Given the description of an element on the screen output the (x, y) to click on. 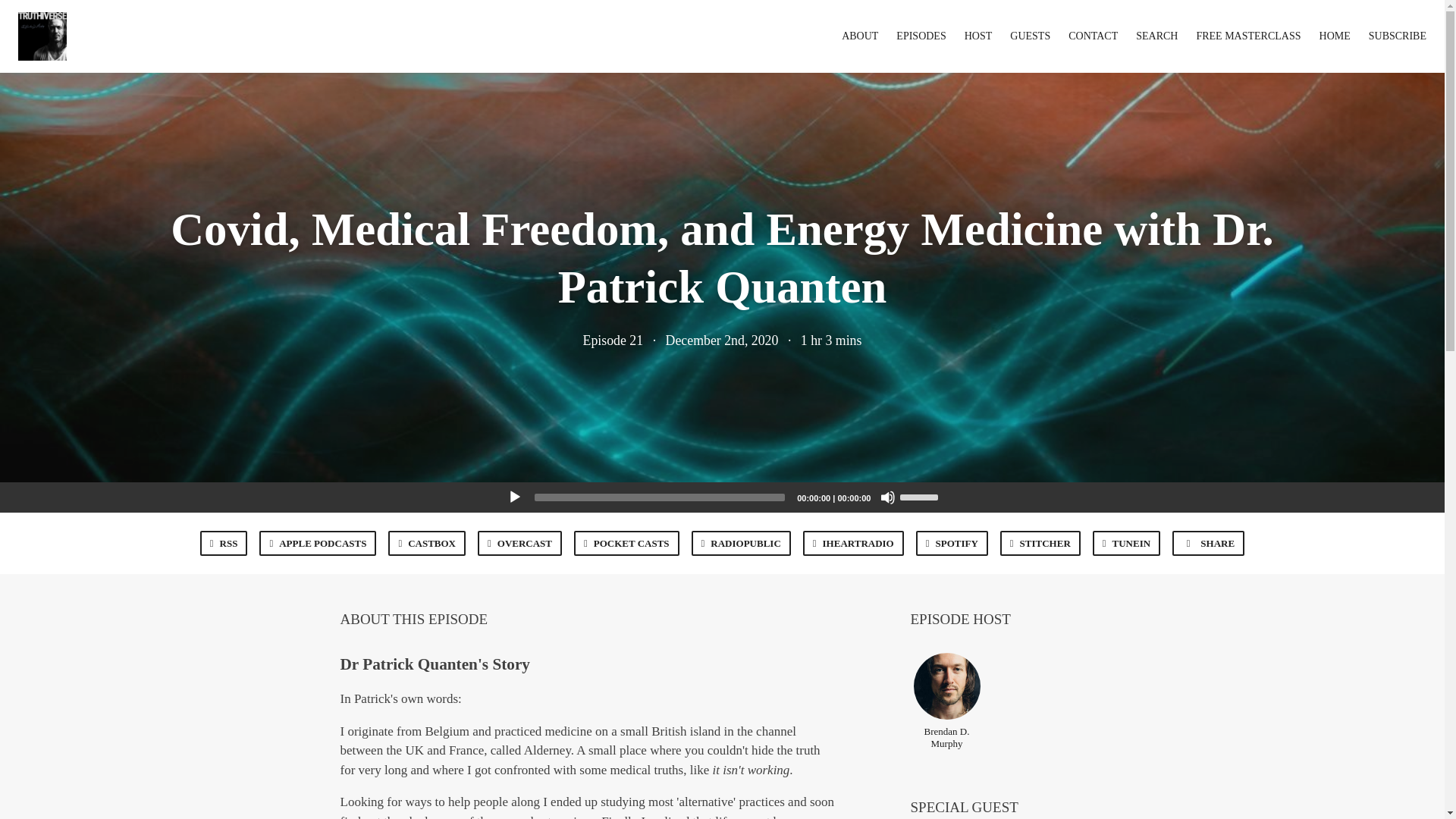
TUNEIN (1126, 543)
HOST (977, 35)
RSS (223, 543)
SUBSCRIBE (1397, 35)
RADIOPUBLIC (740, 543)
FREE MASTERCLASS (1247, 35)
ABOUT (859, 35)
EPISODES (920, 35)
Play (513, 497)
HOME (1335, 35)
IHEARTRADIO (853, 543)
Mute (887, 497)
POCKET CASTS (626, 543)
APPLE PODCASTS (317, 543)
CONTACT (1093, 35)
